Given the description of an element on the screen output the (x, y) to click on. 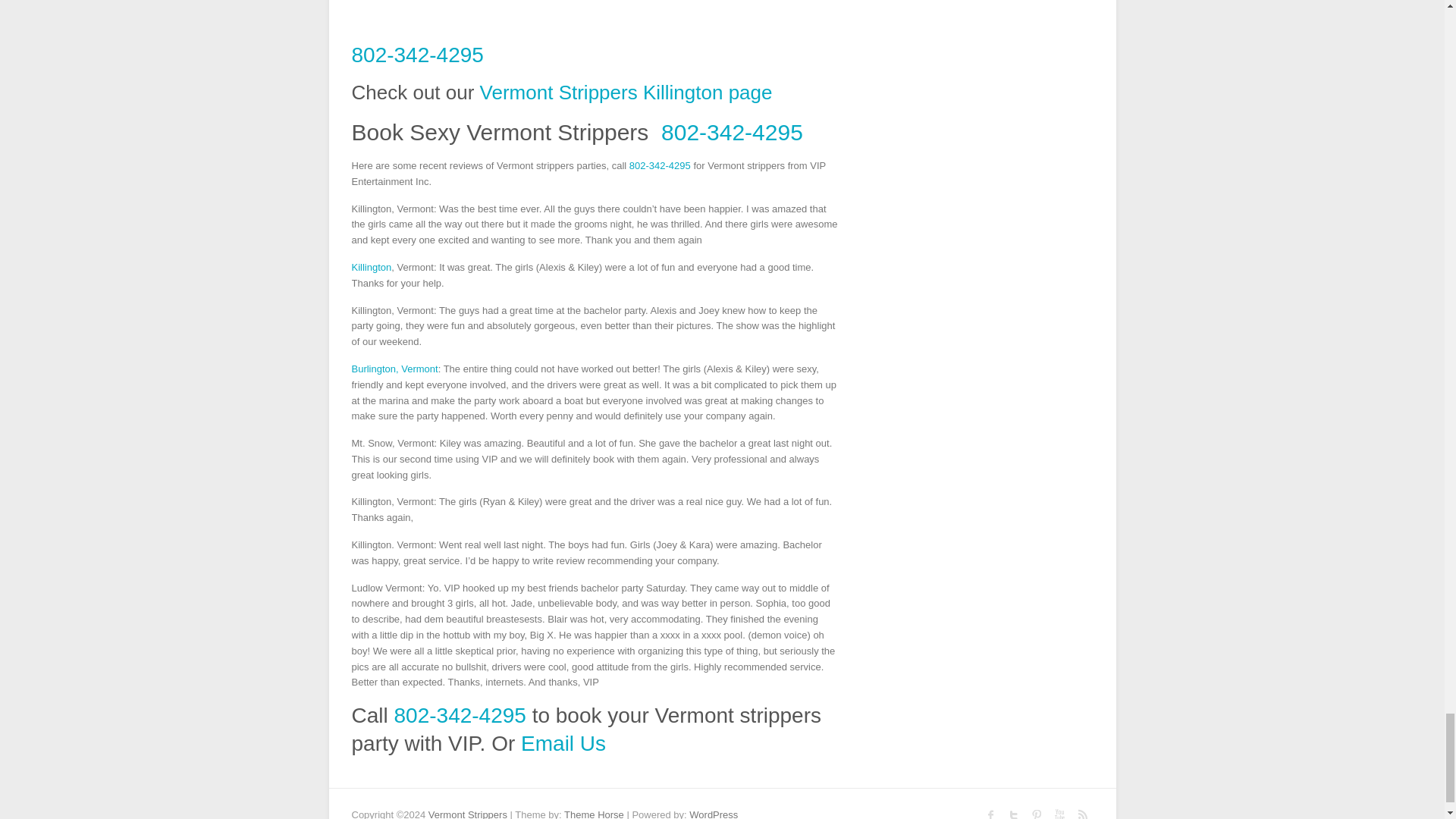
Email Us (563, 743)
Killington (371, 266)
802-342-4295 (459, 715)
Vermont Strippers Killington page (626, 92)
802-342-4295 (659, 165)
802-342-4295 (417, 54)
Burlington, Vermont (395, 368)
802-342-4295 (732, 131)
